Given the description of an element on the screen output the (x, y) to click on. 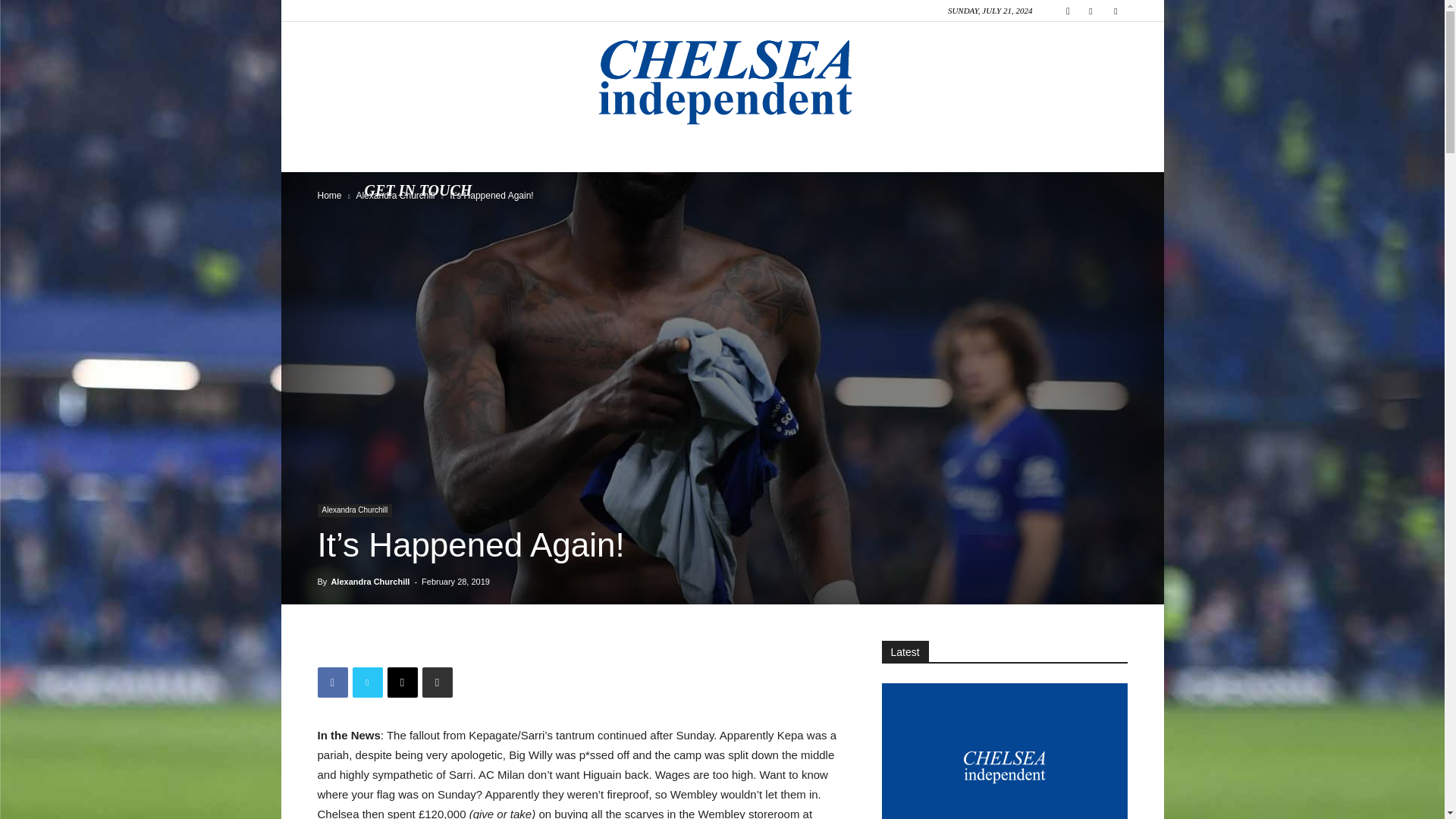
NEWS (460, 153)
Twitter (1114, 10)
HOME (386, 153)
Chelsea Independent (722, 78)
MATCH REPORTS (577, 153)
Search (1085, 64)
Facebook (1090, 10)
